Given the description of an element on the screen output the (x, y) to click on. 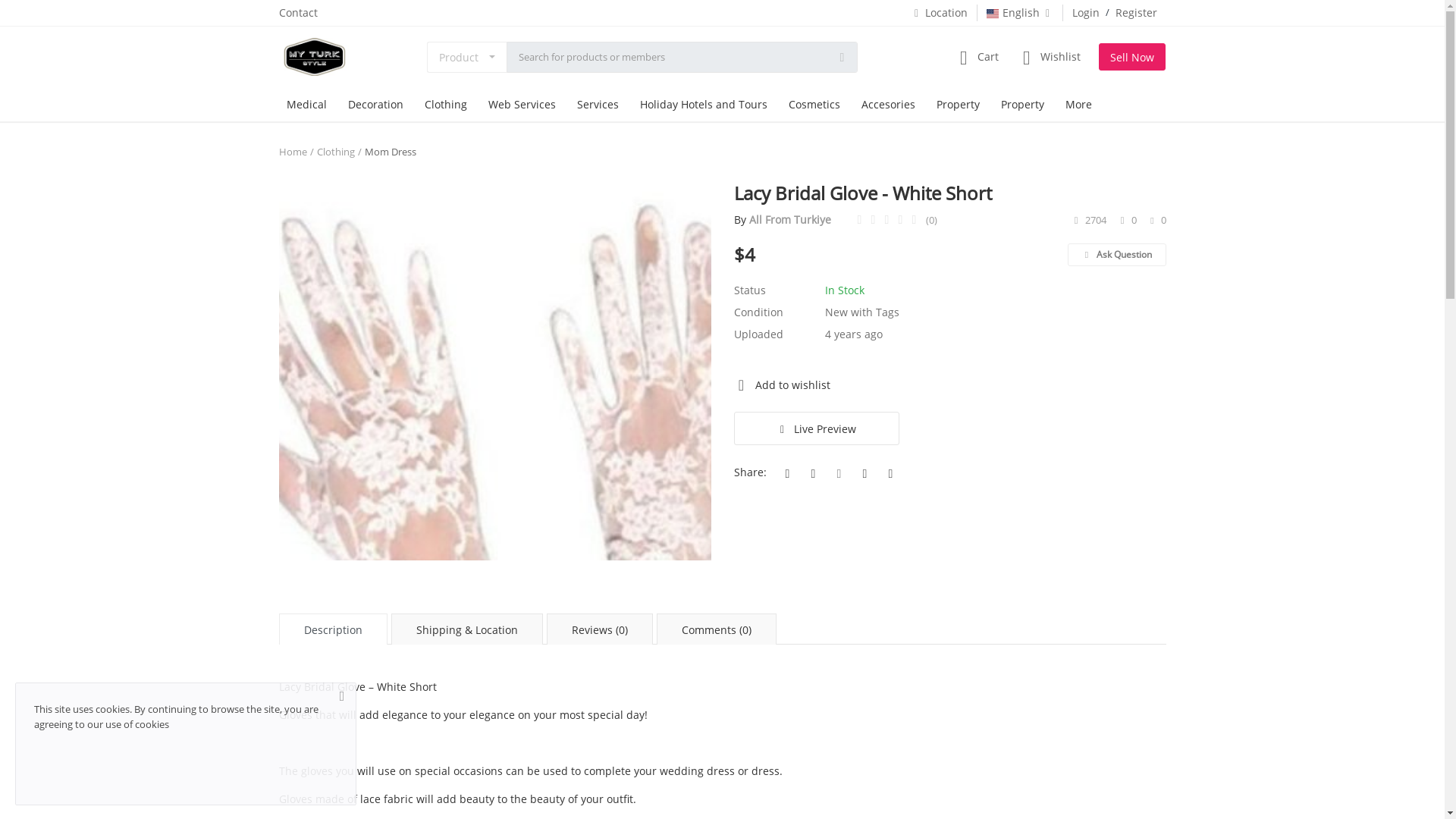
Login (1085, 12)
Sell Now (1132, 56)
Contact (298, 12)
Decoration (374, 103)
Web Services (521, 103)
Cart (975, 56)
Register (1135, 12)
Clothing (445, 103)
 Location (939, 12)
Medical (306, 103)
English (1018, 12)
Wishlist (1048, 56)
Product (465, 56)
